Given the description of an element on the screen output the (x, y) to click on. 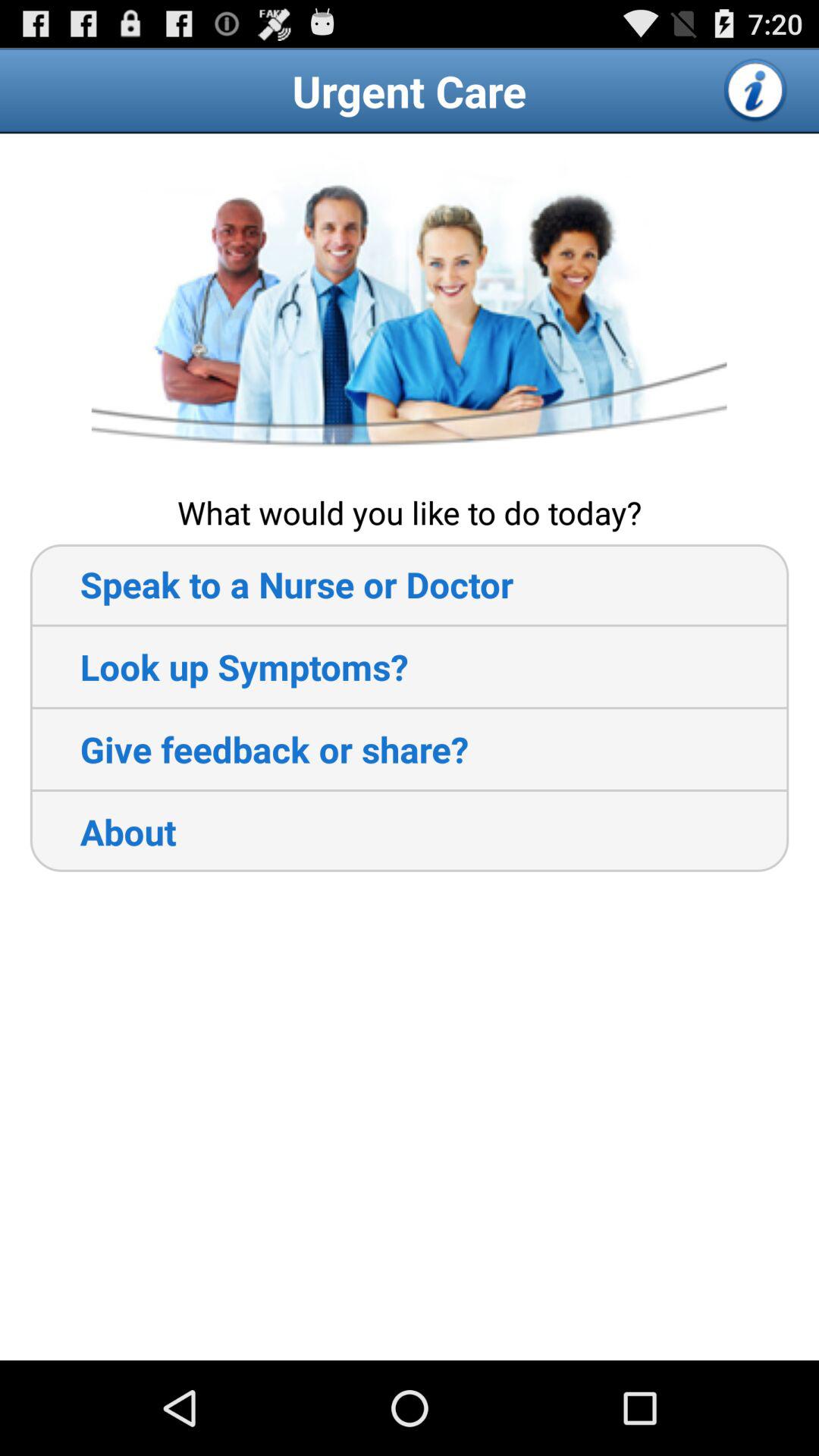
turn on look up symptoms? icon (219, 666)
